Given the description of an element on the screen output the (x, y) to click on. 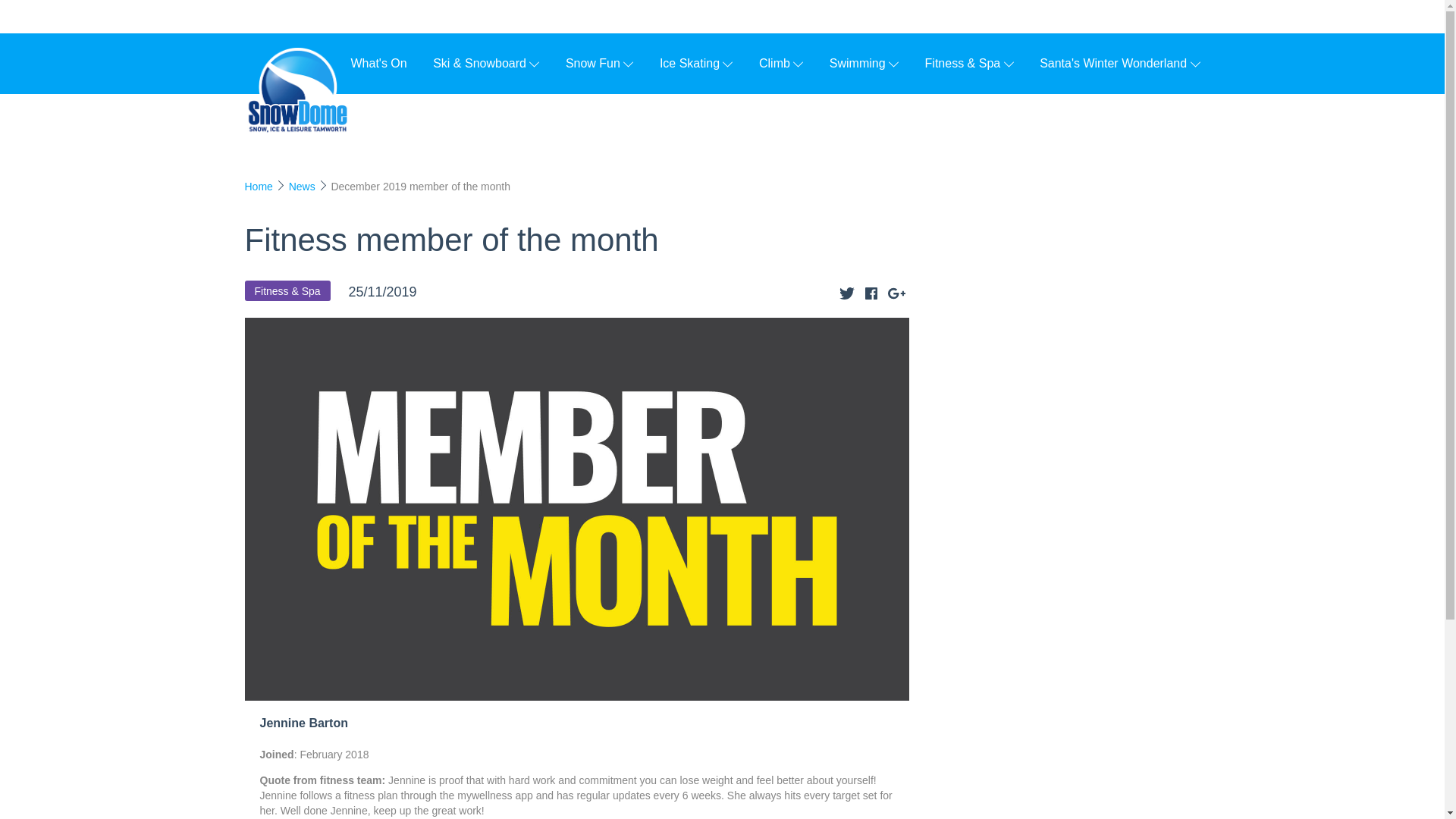
What's On (378, 62)
Twitter (847, 293)
Login (1173, 16)
Facebook (870, 293)
gplus (895, 293)
